Given the description of an element on the screen output the (x, y) to click on. 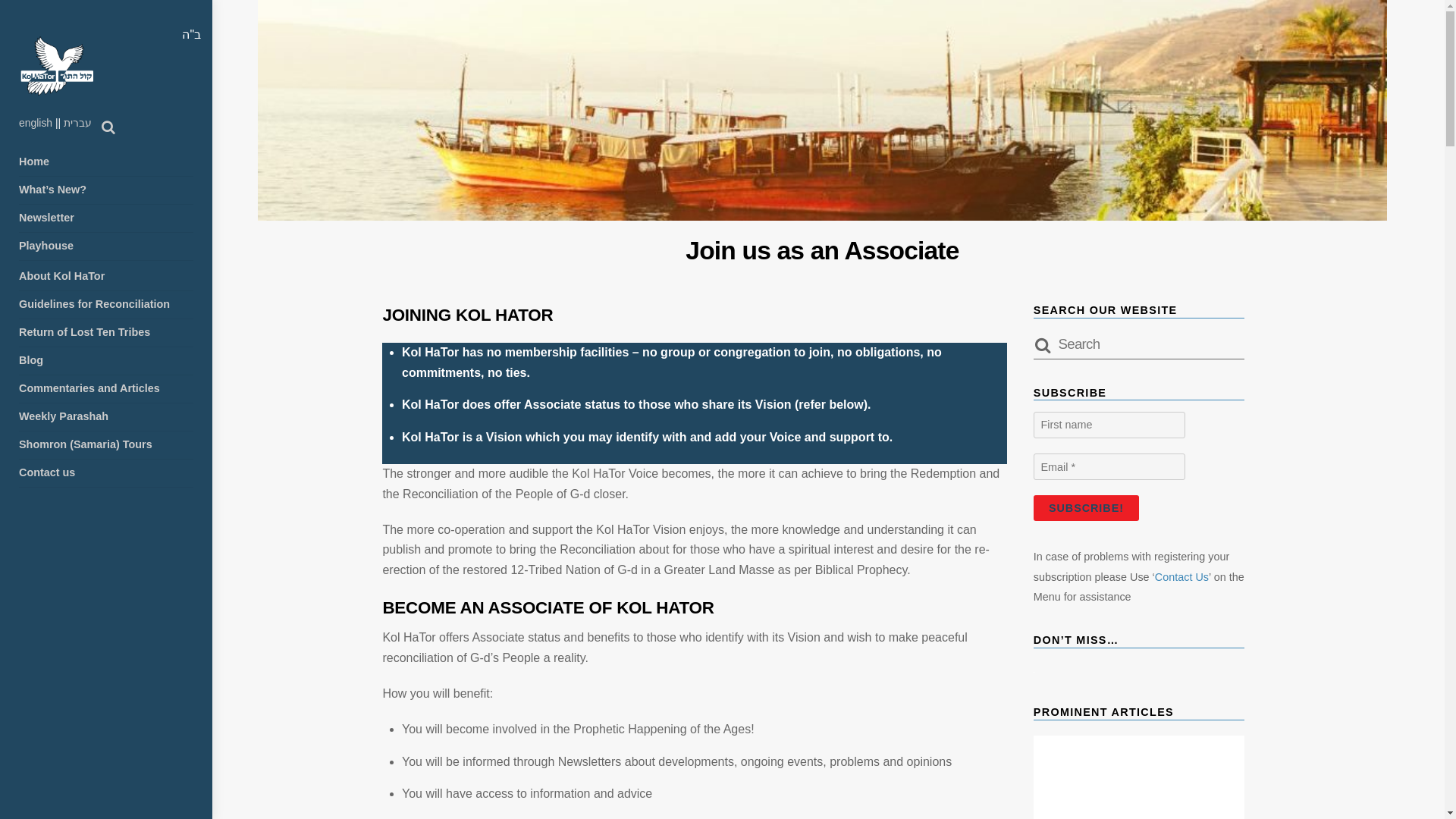
First name (1109, 424)
About Kol HaTor (105, 276)
Home (105, 162)
Playhouse (105, 246)
Newsletter (105, 218)
Weekly Parashah (105, 417)
Return of Lost Ten Tribes (105, 333)
Guidelines for Reconciliation (105, 305)
kht6 (56, 65)
